Given the description of an element on the screen output the (x, y) to click on. 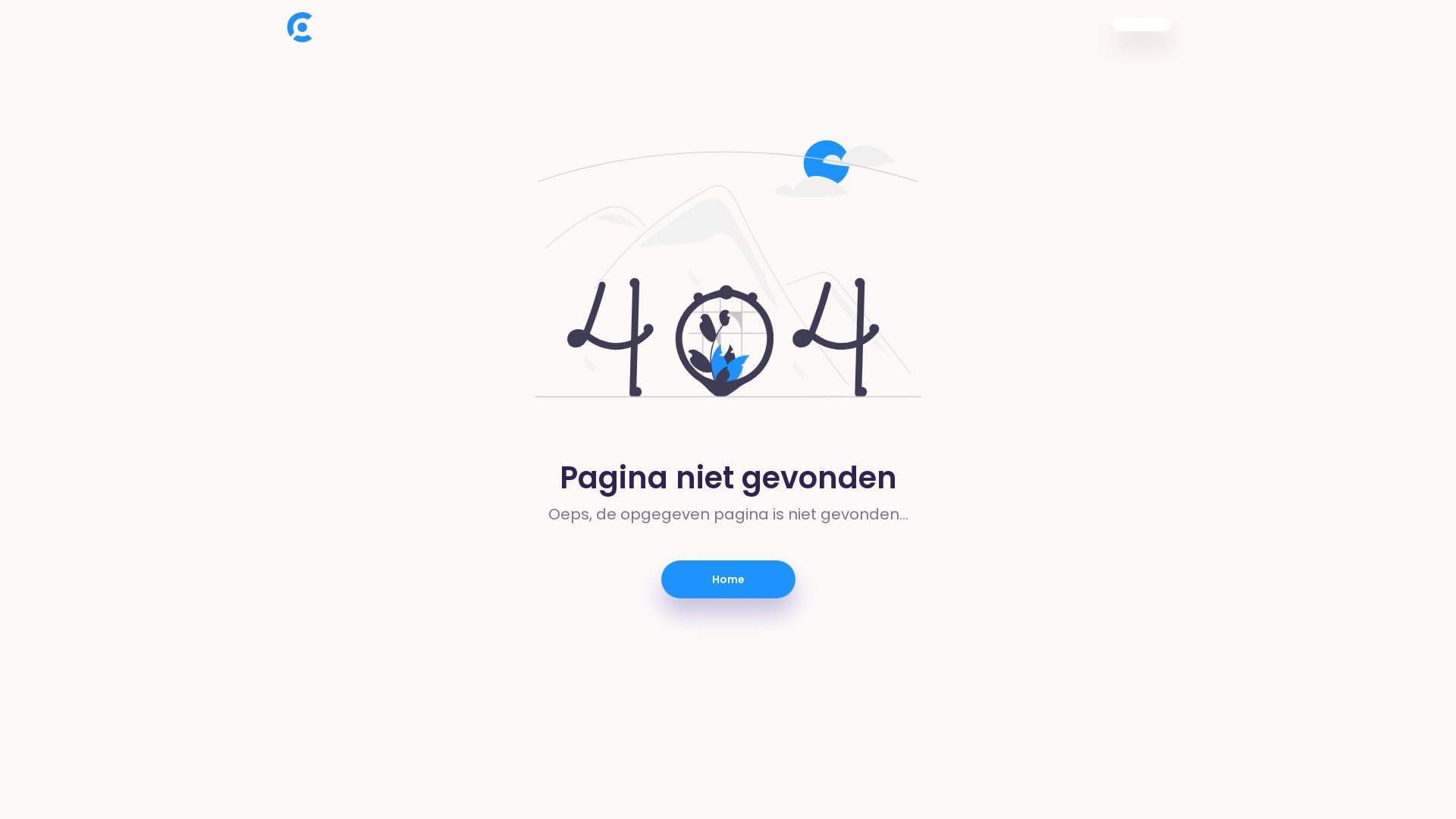
Home Element type: text (728, 579)
